Given the description of an element on the screen output the (x, y) to click on. 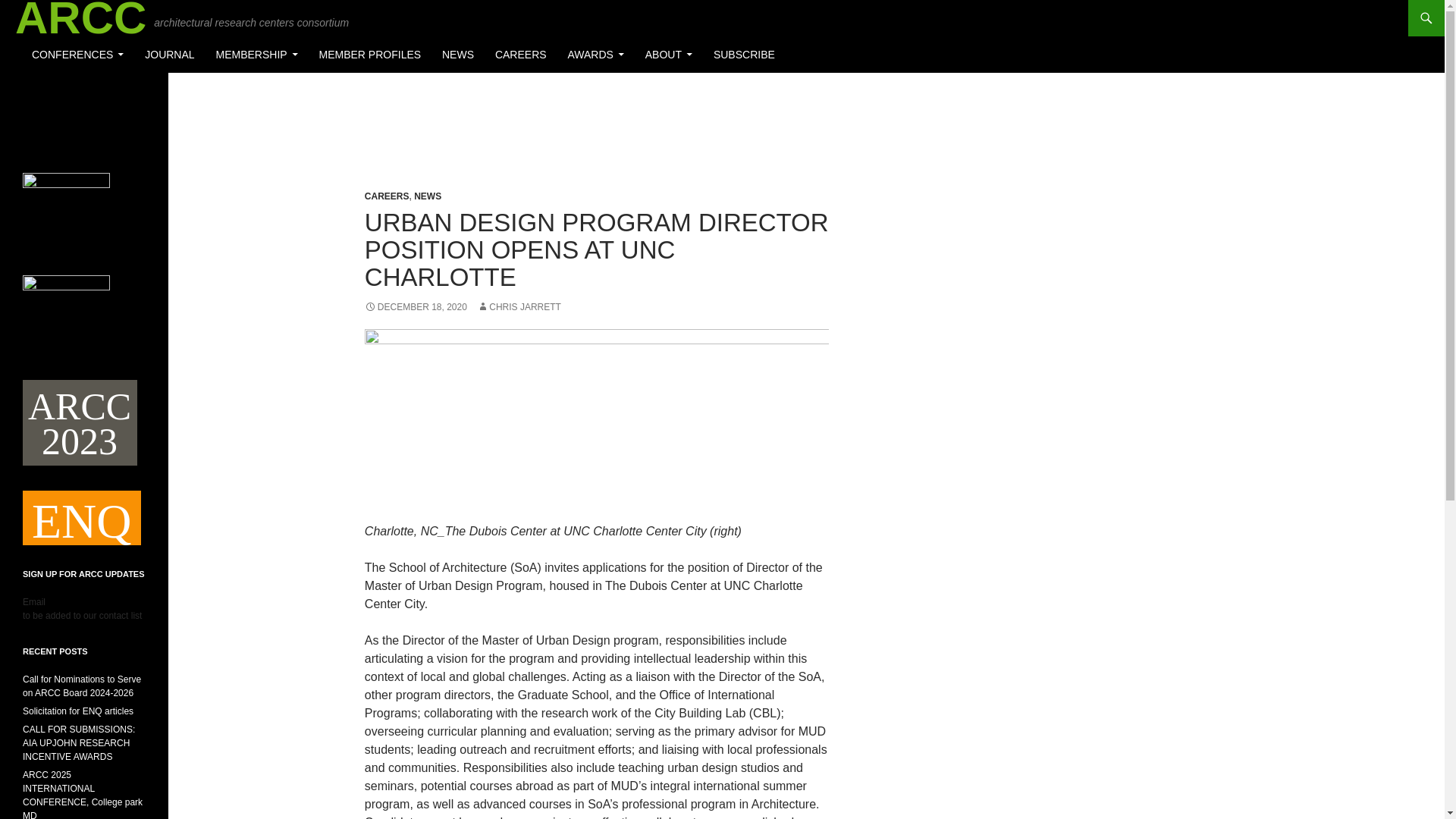
CAREERS (387, 195)
DECEMBER 18, 2020 (416, 307)
ARCC (80, 18)
CHRIS JARRETT (518, 307)
NEWS (457, 54)
SUBSCRIBE (744, 54)
ABOUT (668, 54)
CAREERS (521, 54)
AWARDS (594, 54)
MEMBER PROFILES (370, 54)
CONFERENCES (77, 54)
JOURNAL (169, 54)
NEWS (427, 195)
MEMBERSHIP (255, 54)
